Given the description of an element on the screen output the (x, y) to click on. 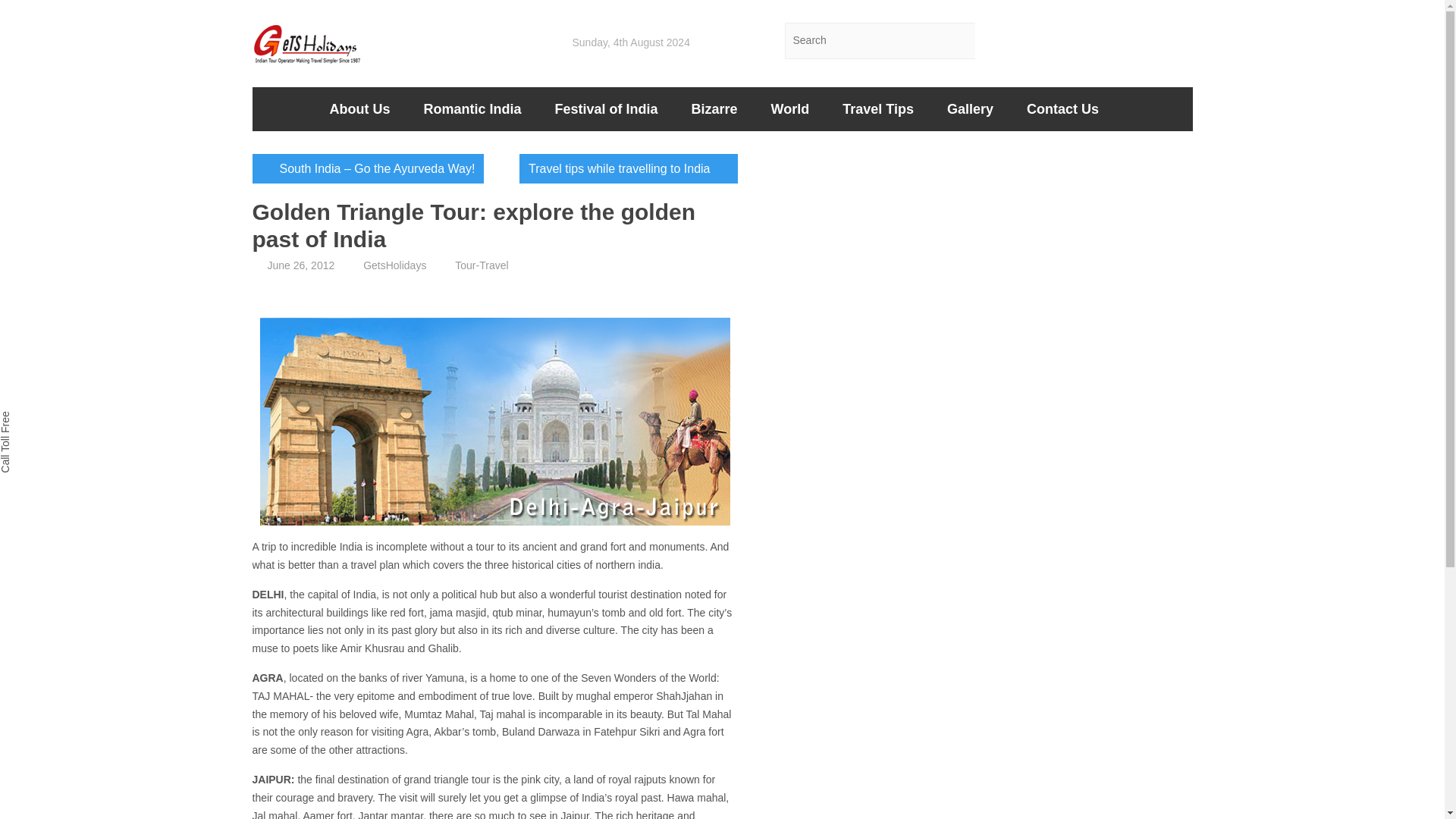
Golden Triangle Tour (494, 421)
About Us (359, 108)
Twitter (1053, 40)
Romantic India (471, 108)
GetsHolidays (394, 265)
RSS (1174, 40)
Search (993, 40)
Contact Us (1062, 108)
World (790, 108)
Home (282, 108)
